Given the description of an element on the screen output the (x, y) to click on. 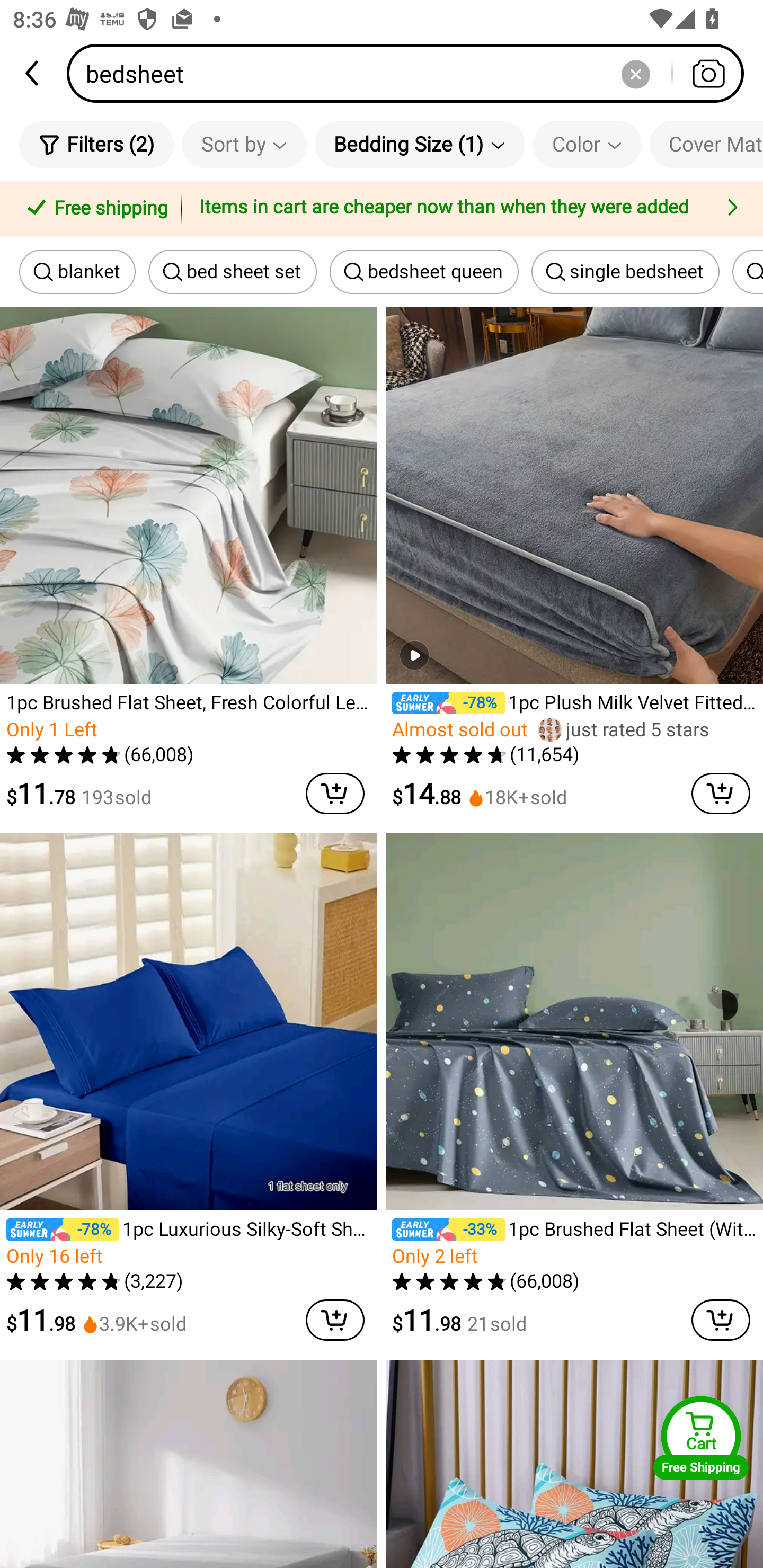
back (33, 72)
bedsheet (411, 73)
Delete search history (635, 73)
Search by photo (708, 73)
Filters (2) (96, 143)
Sort by (243, 143)
Bedding Size (1) (419, 143)
Color (587, 143)
Cover Material (706, 143)
 Free shipping (93, 208)
blanket (77, 271)
bed sheet set (232, 271)
bedsheet queen (423, 271)
single bedsheet (625, 271)
